Given the description of an element on the screen output the (x, y) to click on. 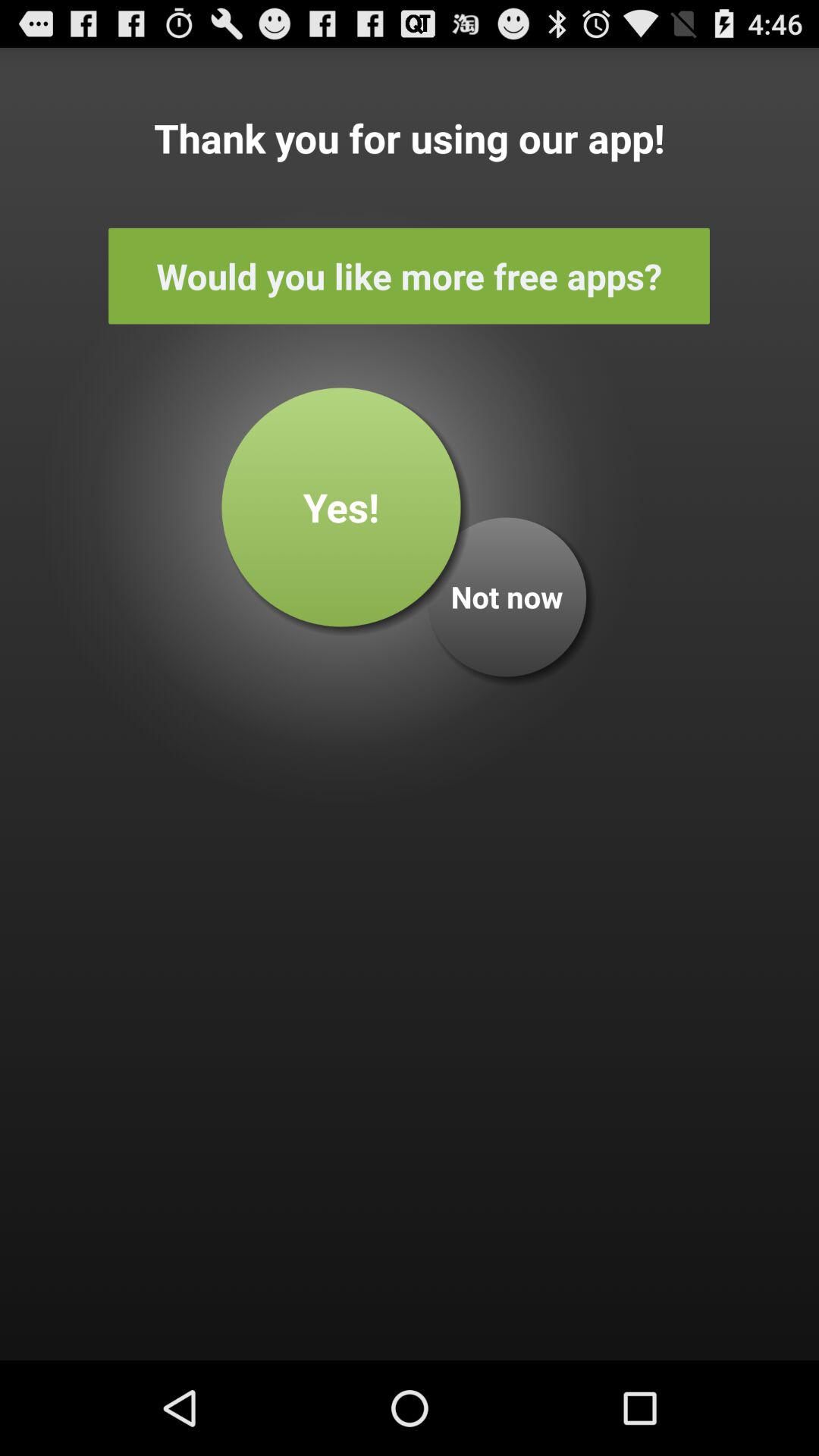
flip to yes! item (340, 506)
